Given the description of an element on the screen output the (x, y) to click on. 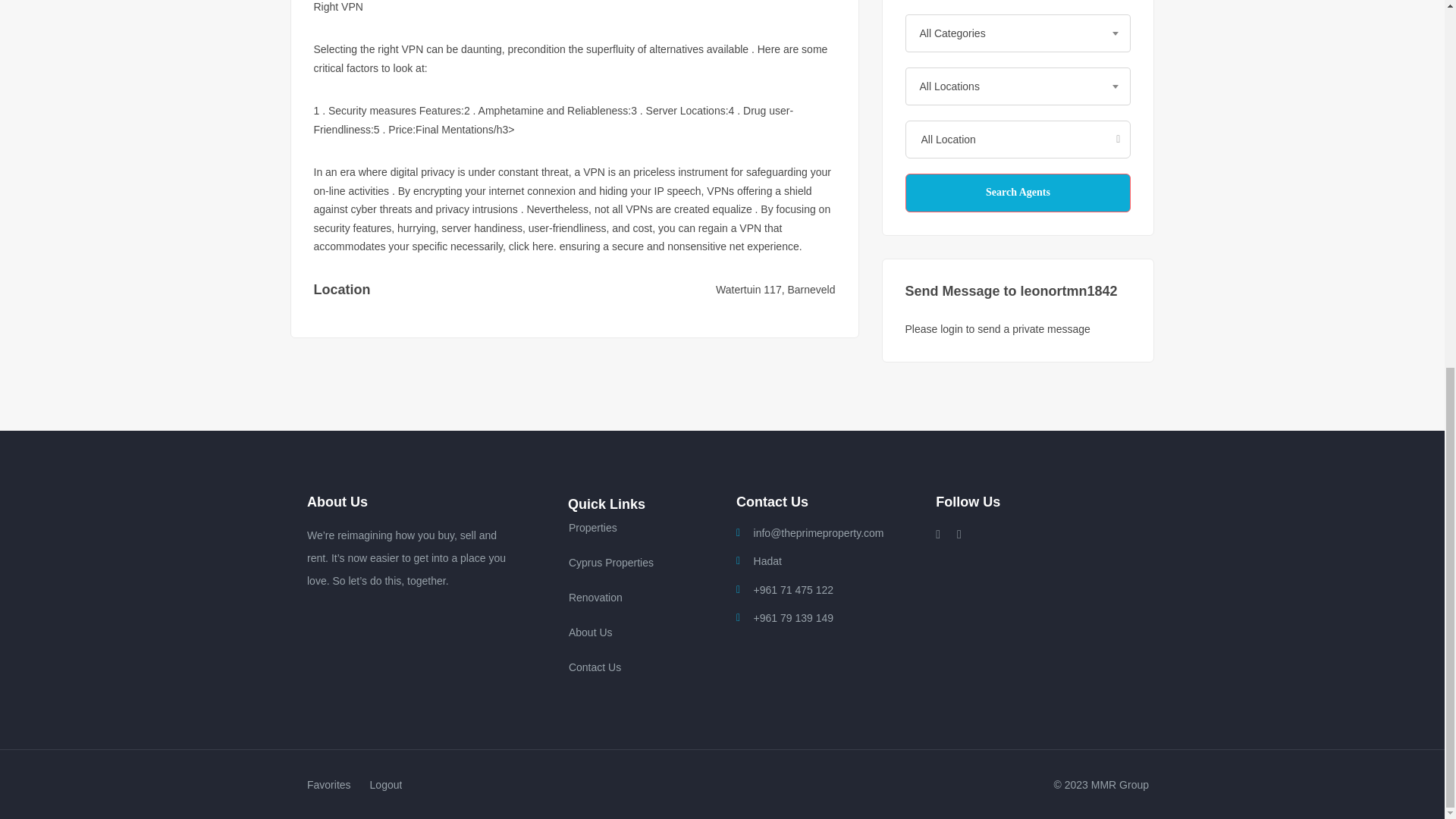
Watertuin 117, Barneveld (775, 289)
click here. (532, 246)
Please login to send a private message (997, 328)
Search Agents (1018, 192)
